Given the description of an element on the screen output the (x, y) to click on. 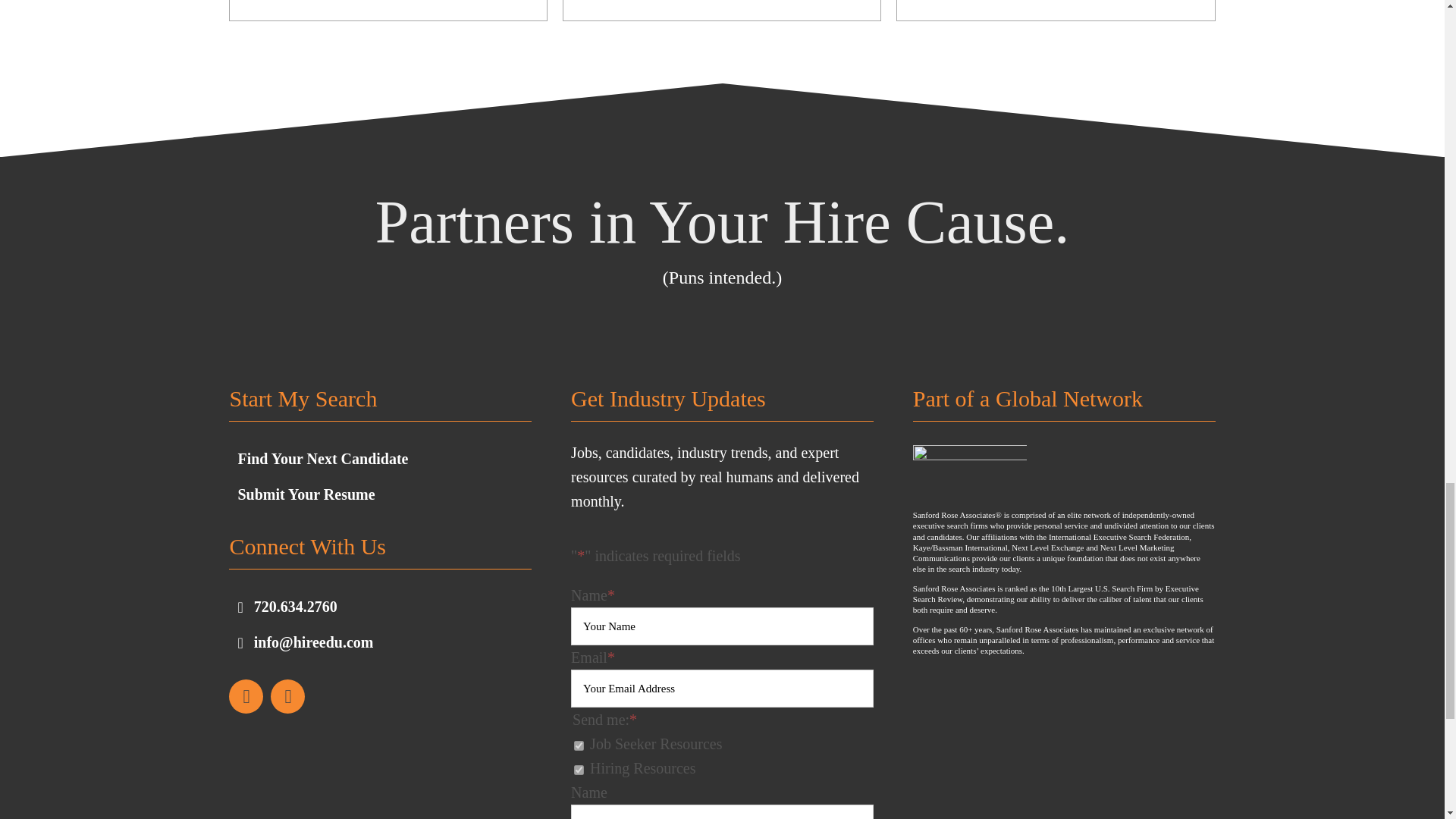
Job Seeker Resources (578, 746)
SRA-Diamonds-White (969, 473)
Find Your Next Candidate (322, 459)
LinkedIn (245, 696)
Hiring Resources (578, 769)
Submit Your Resume (305, 494)
Rss (287, 696)
